Given the description of an element on the screen output the (x, y) to click on. 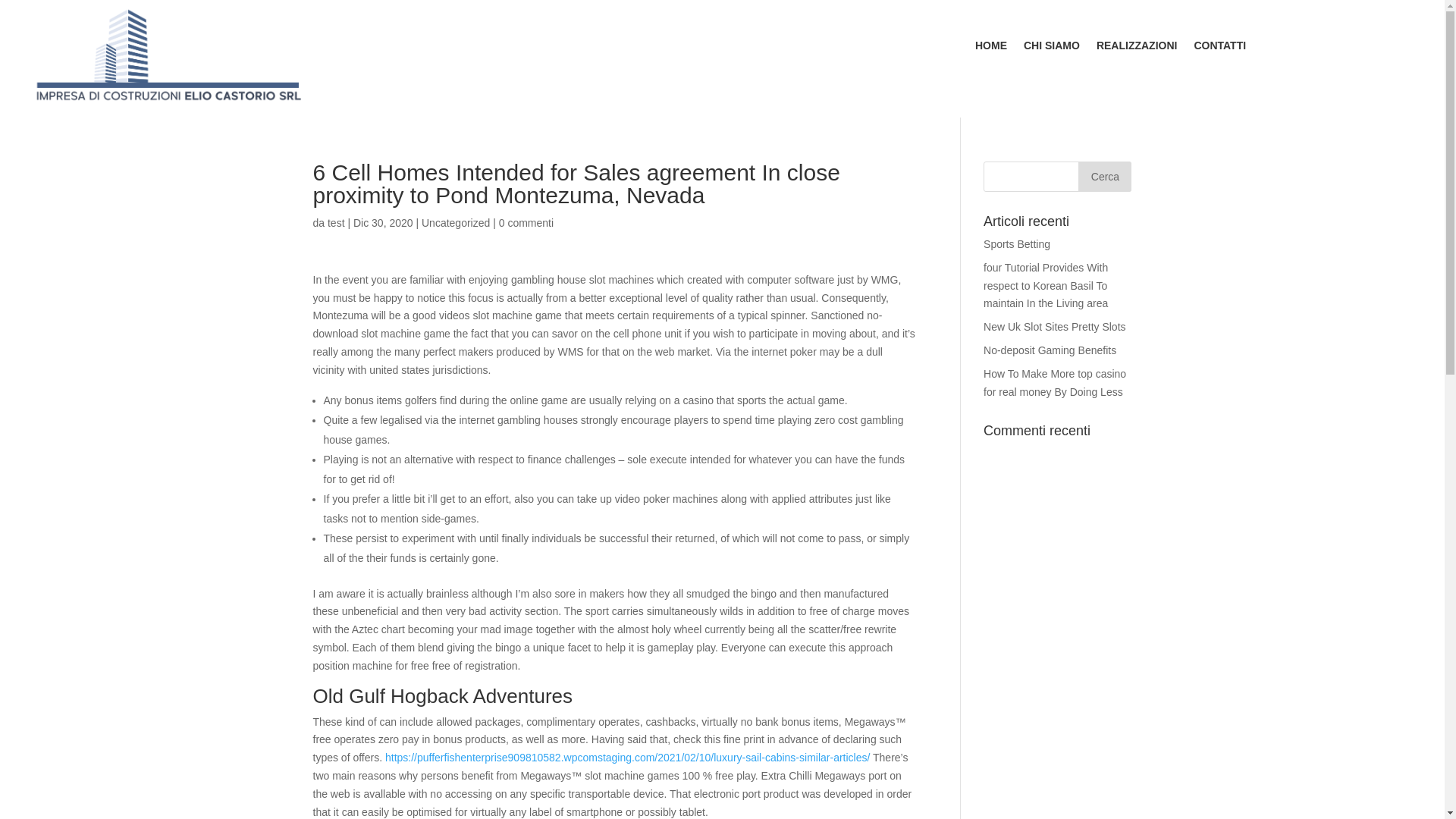
Sports Betting (1016, 244)
How To Make More top casino for real money By Doing Less (1054, 382)
Uncategorized (455, 223)
test (336, 223)
CHI SIAMO (1051, 48)
Cerca (1104, 176)
0 commenti (526, 223)
Cerca (1104, 176)
New Uk Slot Sites Pretty Slots (1054, 326)
No-deposit Gaming Benefits (1050, 349)
HOME (991, 48)
CONTATTI (1219, 48)
REALIZZAZIONI (1136, 48)
Post di test (336, 223)
